Given the description of an element on the screen output the (x, y) to click on. 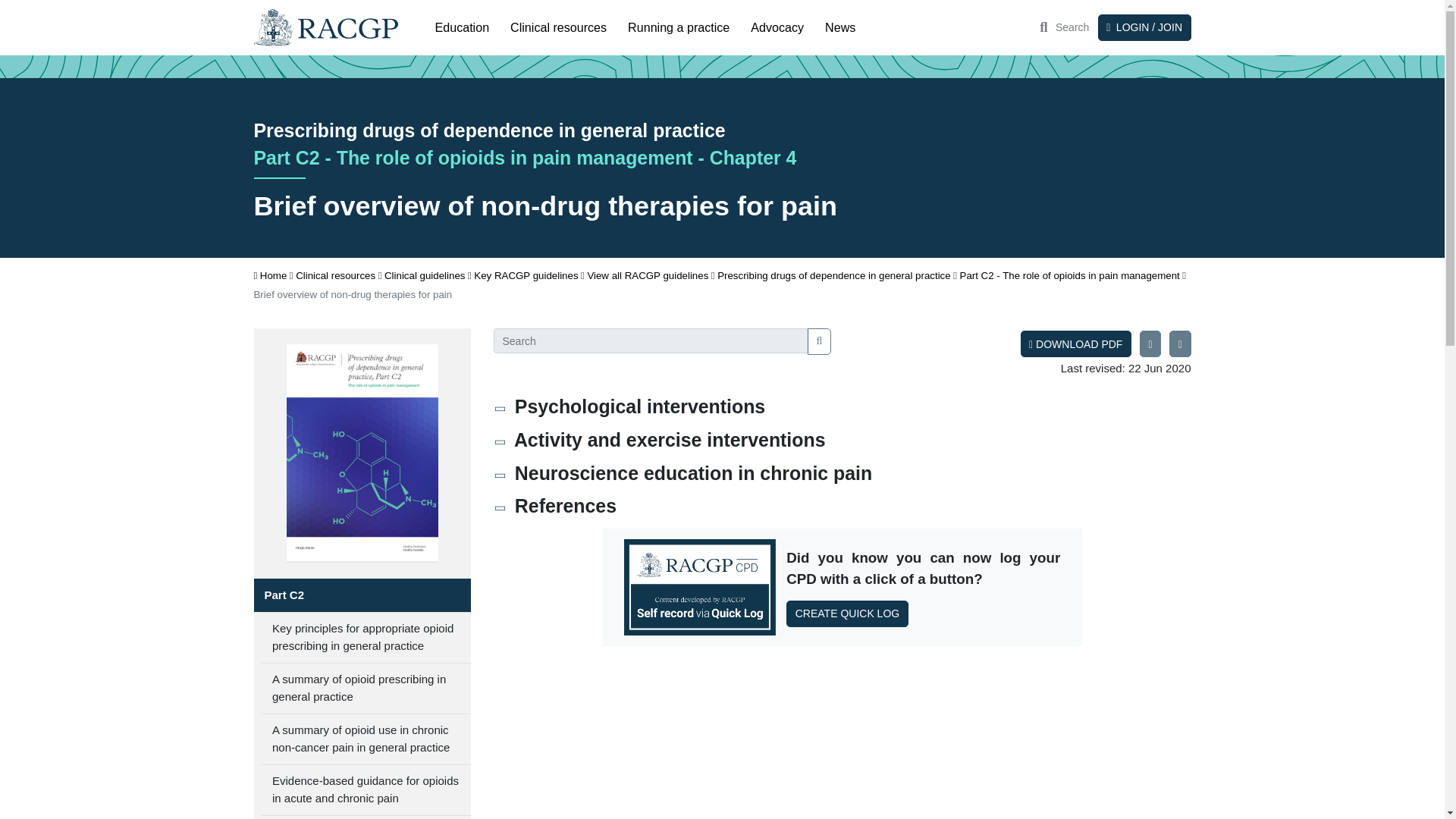
Prescribing drugs of dependence in general practice (833, 275)
RACGP Logo (325, 26)
Part C2 - The role of opioids in pain management (1069, 275)
Clinical resources (335, 275)
Key RACGP guidelines (526, 275)
Clinical guidelines (424, 275)
View all RACGP guidelines (646, 275)
Education (462, 27)
